Given the description of an element on the screen output the (x, y) to click on. 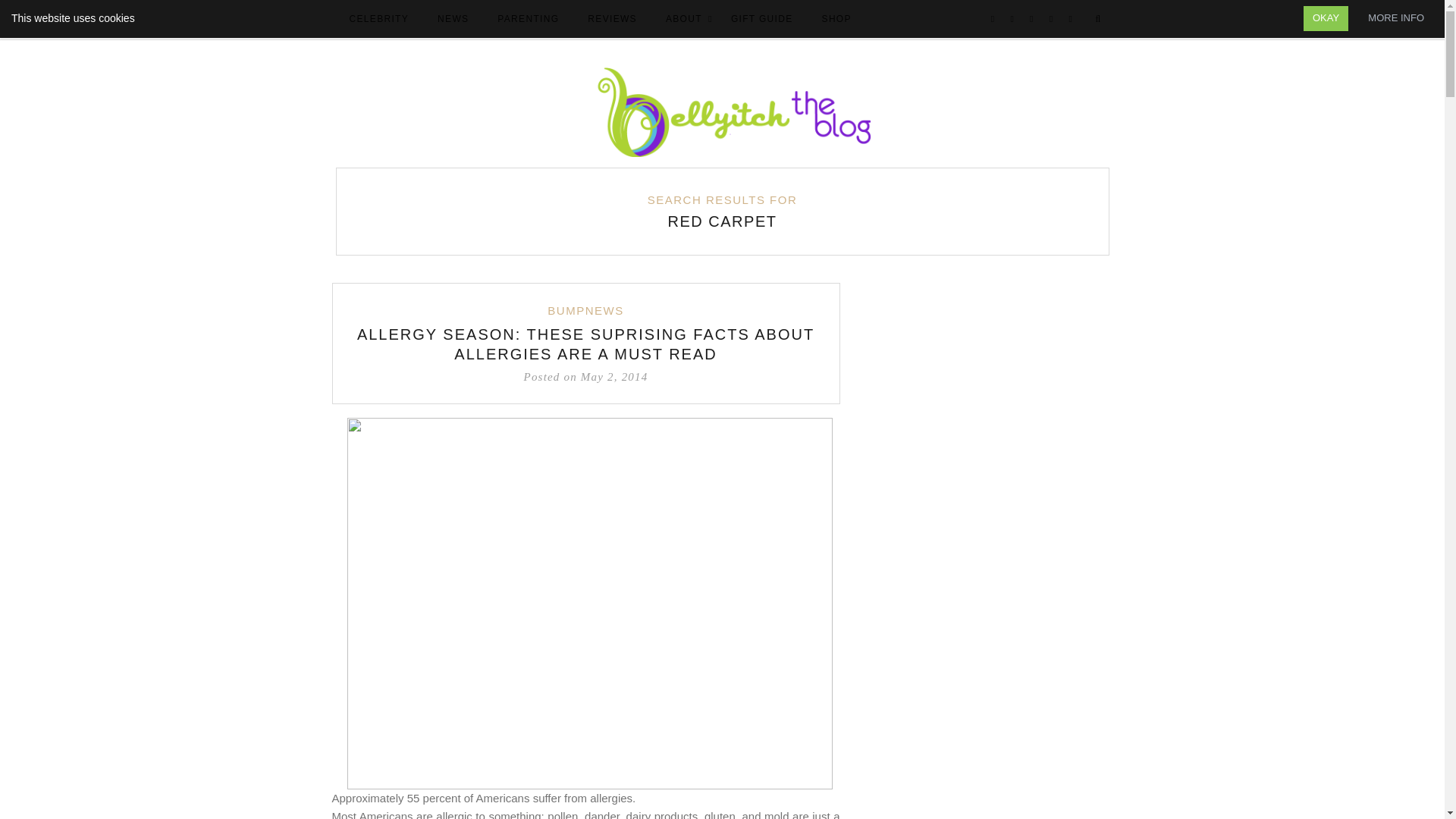
REVIEWS (611, 19)
PARENTING (527, 19)
2014-05-02 03:42:00 (585, 376)
GIFT GUIDE (761, 19)
Pinterest (1051, 19)
BUMPNEWS (585, 311)
SHOP (836, 19)
Youtube (1070, 19)
CELEBRITY (378, 19)
Instagram (1032, 19)
NEWS (452, 19)
Twitter (1012, 19)
Facebook (993, 19)
